Given the description of an element on the screen output the (x, y) to click on. 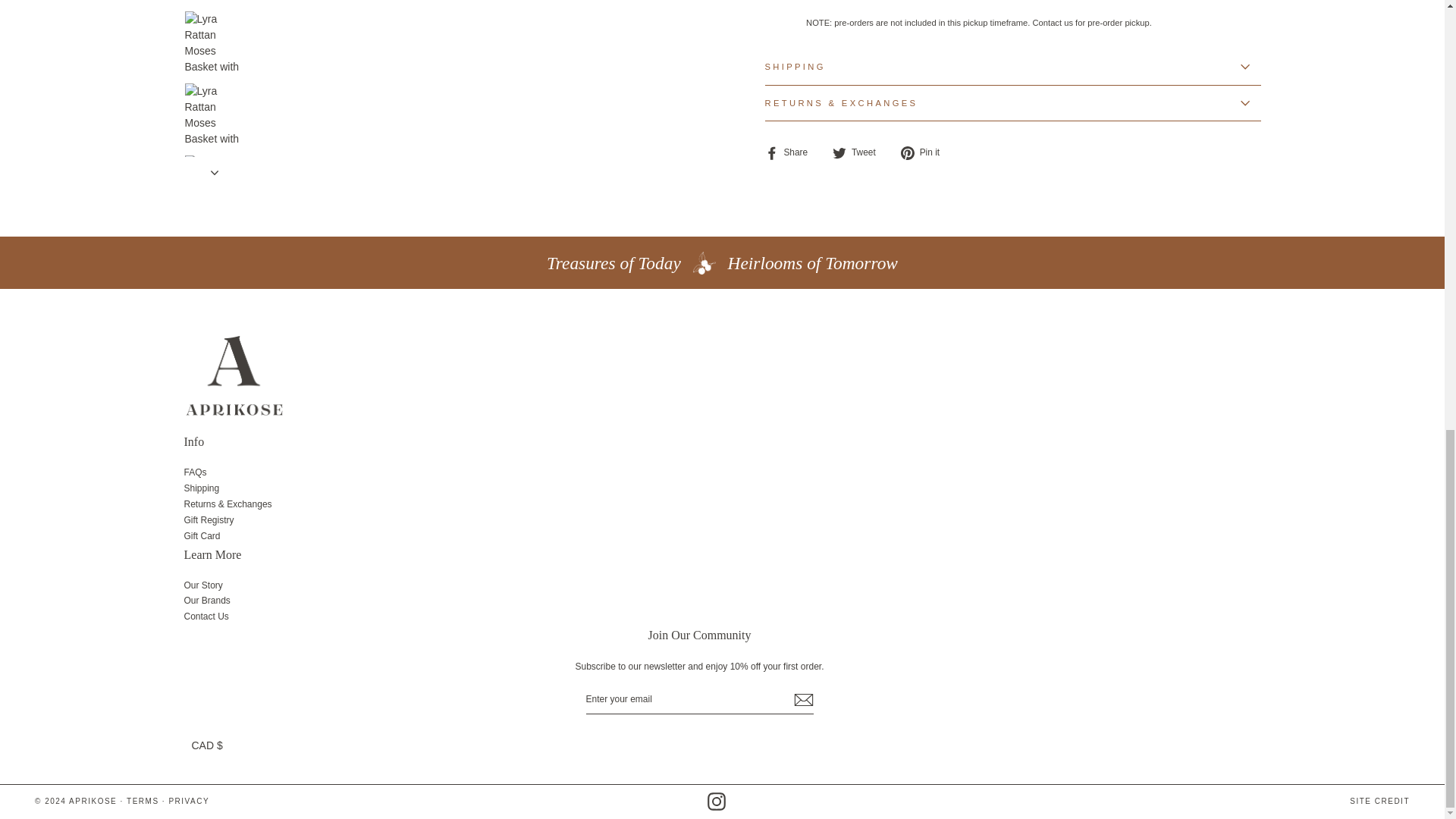
Aprikose on Instagram (716, 801)
Tweet on Twitter (859, 152)
Share on Facebook (791, 152)
Pin on Pinterest (925, 152)
